Given the description of an element on the screen output the (x, y) to click on. 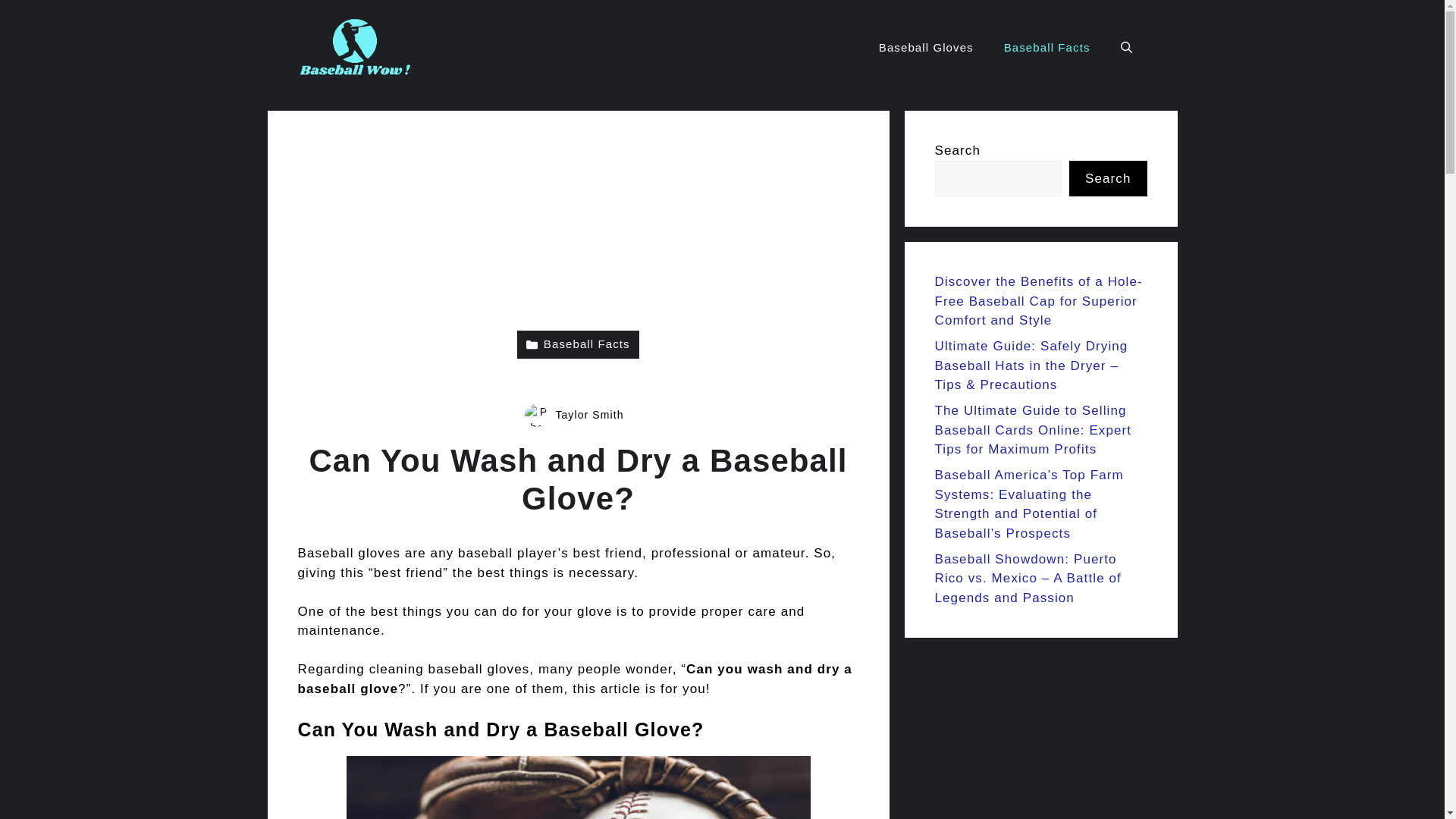
Taylor Smith (588, 414)
Search (1107, 178)
Baseball Facts (577, 344)
Baseball Facts (1046, 47)
Baseball Gloves (925, 47)
